Given the description of an element on the screen output the (x, y) to click on. 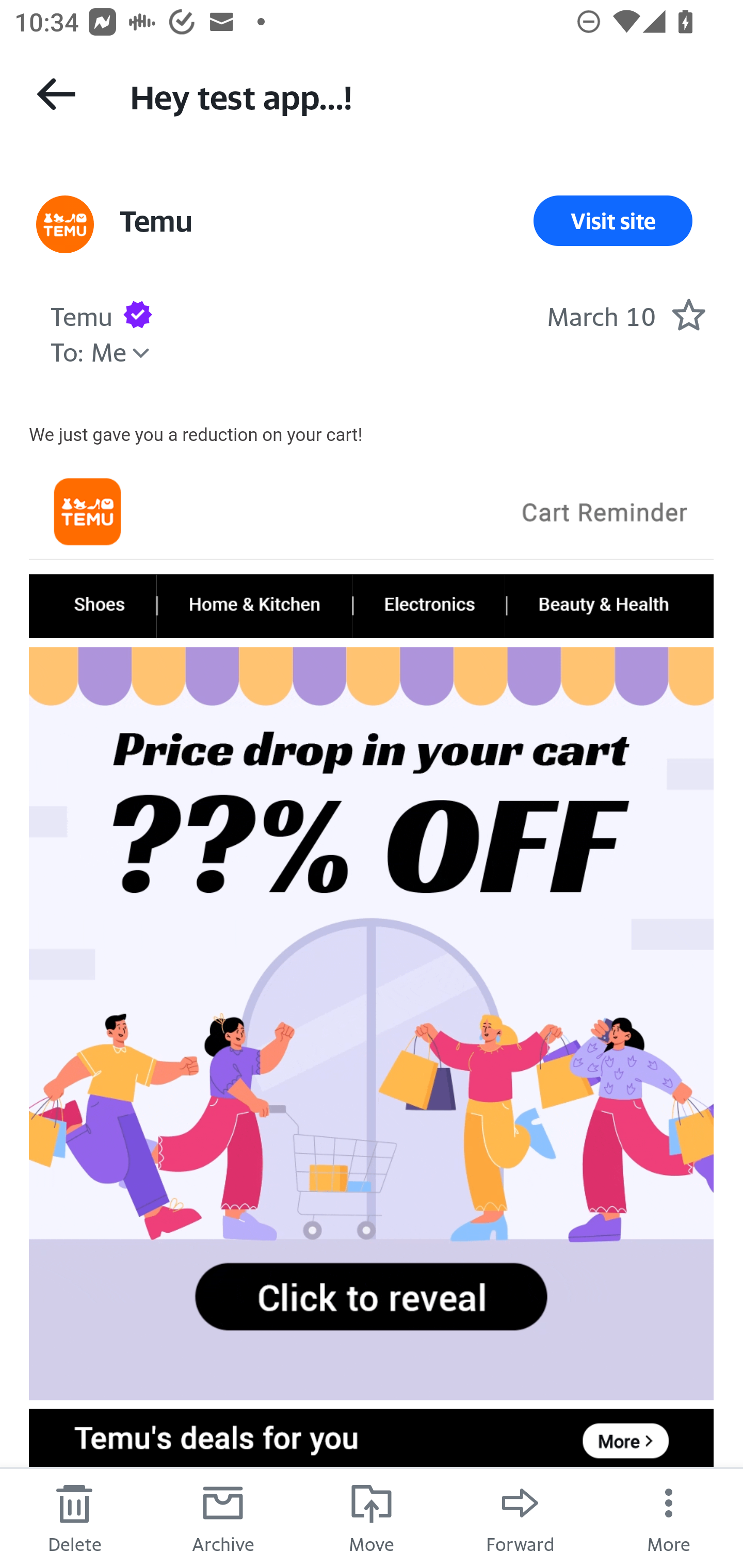
Back (55, 93)
Hey test app...! (418, 94)
View all messages from sender (64, 225)
Visit site Visit Site Link (612, 221)
Temu Sender Temu (155, 220)
Temu Sender Temu (81, 314)
Mark as starred. (688, 314)
Delete (74, 1517)
Archive (222, 1517)
Move (371, 1517)
Forward (519, 1517)
More (668, 1517)
